Given the description of an element on the screen output the (x, y) to click on. 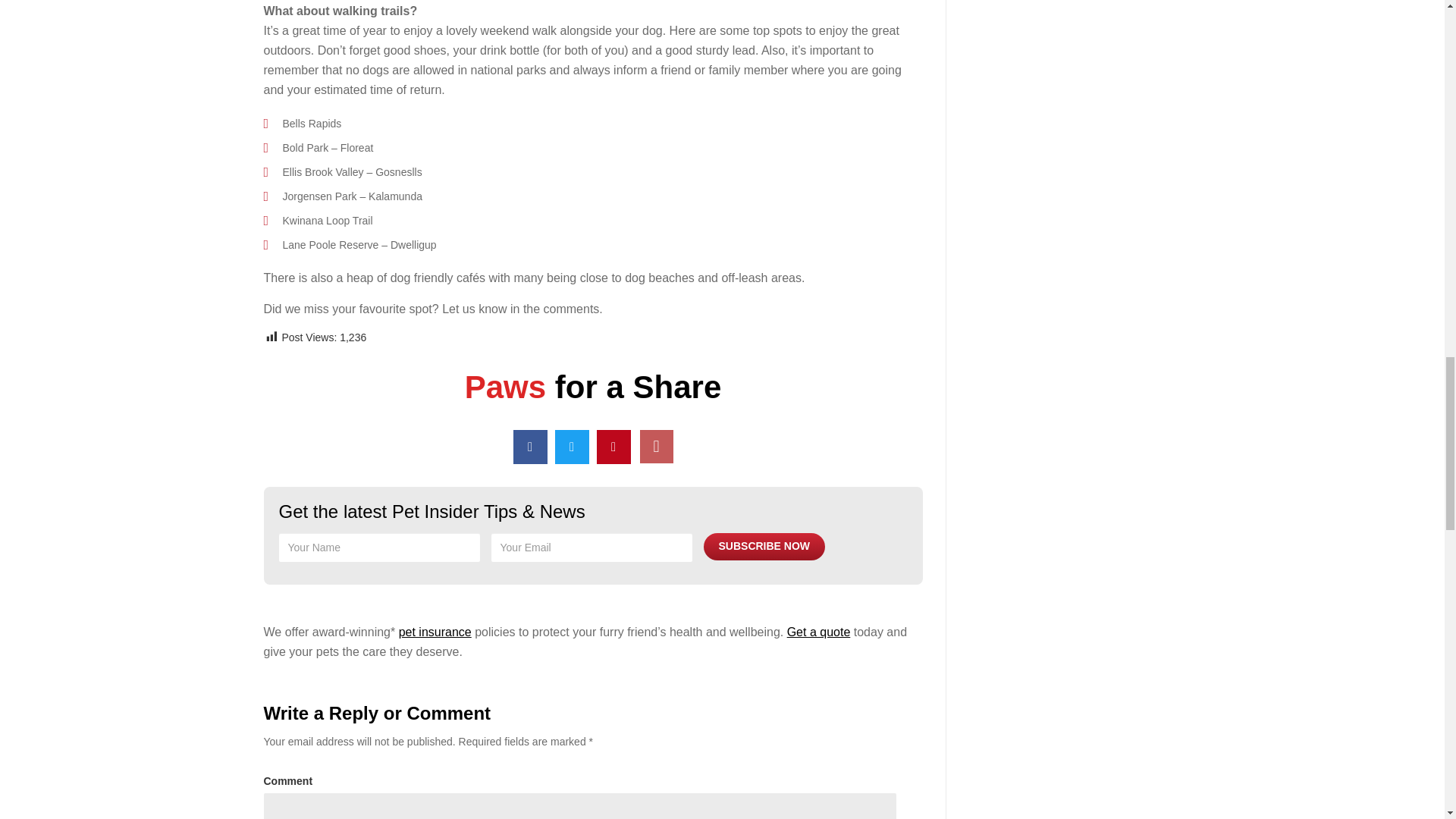
pet insurance (434, 631)
subscribe now (764, 546)
Get a quote (818, 631)
subscribe now (764, 546)
